Given the description of an element on the screen output the (x, y) to click on. 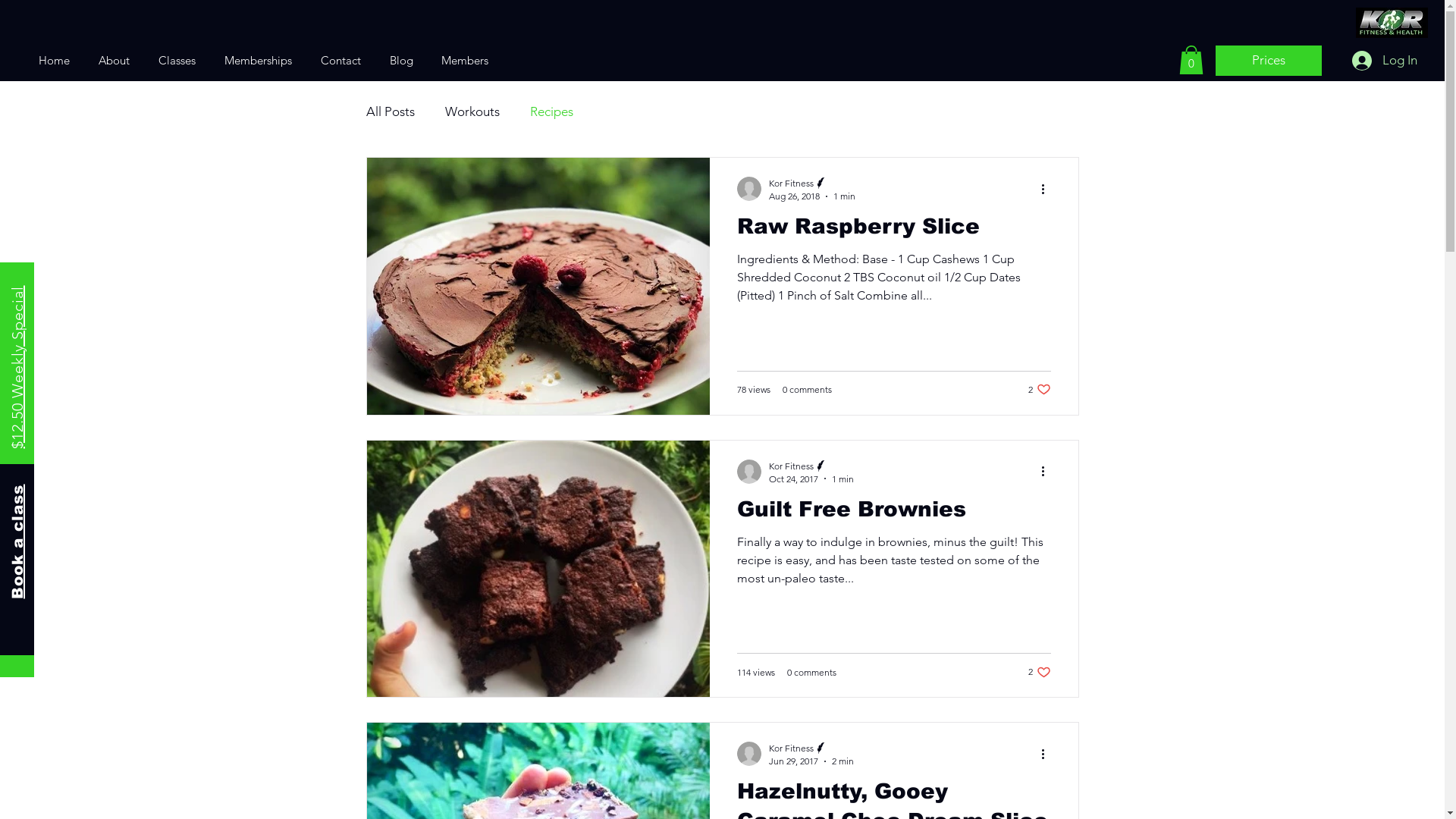
Book a class Element type: text (66, 491)
Kor Fitness Element type: text (810, 747)
0 Element type: text (1191, 59)
2 likes. Post not marked as liked
2 Element type: text (1039, 389)
Recipes Element type: text (550, 111)
0 comments Element type: text (806, 389)
Guilt Free Brownies Element type: text (894, 512)
Memberships Element type: text (258, 60)
All Posts Element type: text (389, 111)
Prices Element type: text (1268, 60)
Log In Element type: text (1384, 60)
Contact Element type: text (340, 60)
0 comments Element type: text (811, 671)
Classes Element type: text (177, 60)
$12.50 Weekly Special Element type: text (89, 294)
Members Element type: text (464, 60)
About Element type: text (114, 60)
Raw Raspberry Slice Element type: text (894, 230)
Workouts Element type: text (471, 111)
Kor Fitness Element type: text (811, 182)
2 likes. Post not marked as liked
2 Element type: text (1039, 671)
Kor Fitness Element type: text (810, 465)
Blog Element type: text (400, 60)
Home Element type: text (54, 60)
